Given the description of an element on the screen output the (x, y) to click on. 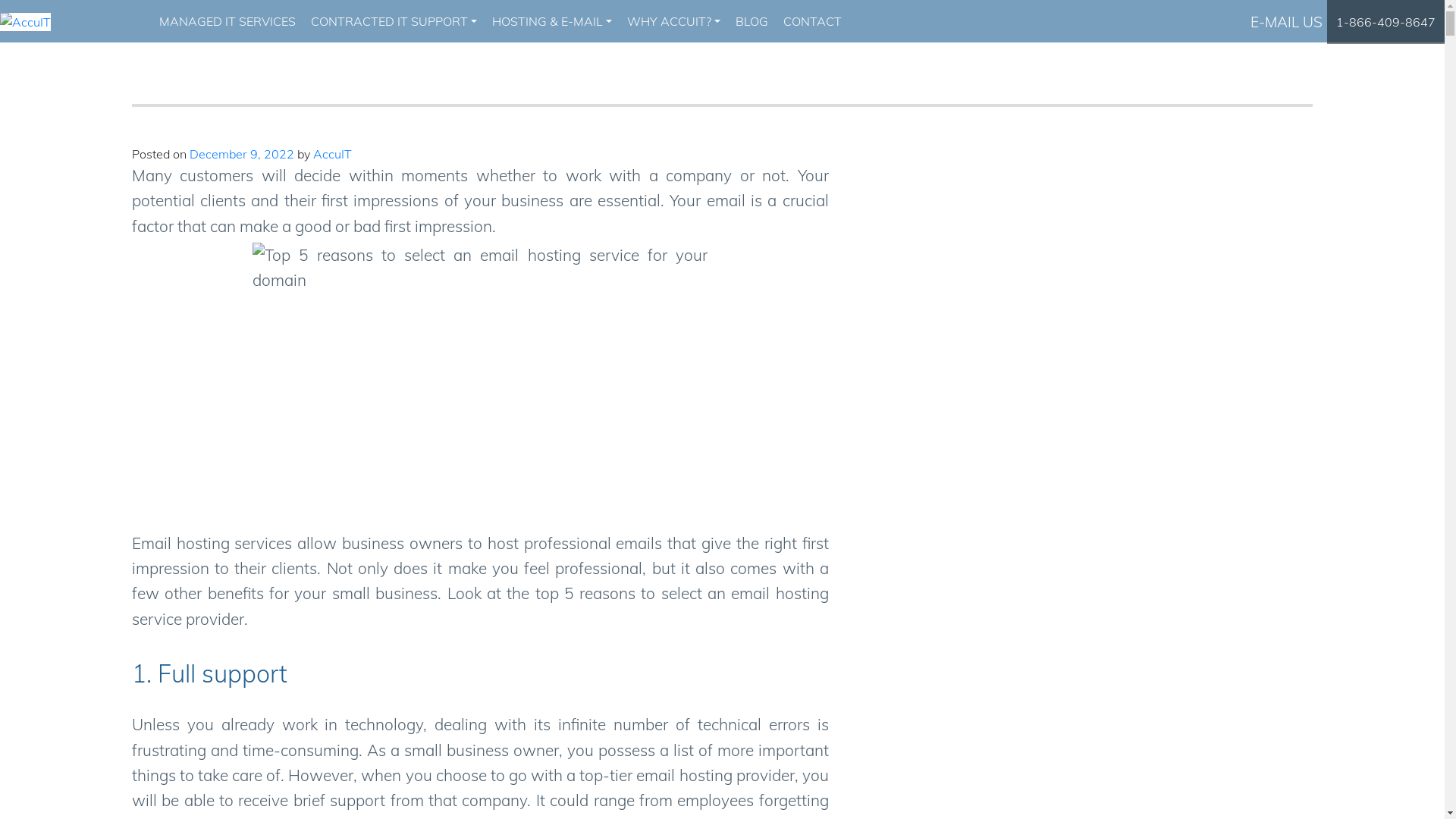
MANAGED IT SERVICES Element type: text (227, 20)
December 9, 2022 Element type: text (241, 153)
AccuIT Element type: text (332, 153)
HOSTING & E-MAIL Element type: text (551, 20)
CONTACT Element type: text (812, 20)
CONTRACTED IT SUPPORT Element type: text (393, 20)
E-MAIL US Element type: text (1286, 21)
BLOG Element type: text (751, 20)
WHY ACCUIT? Element type: text (673, 20)
1-866-409-8647 Element type: text (1385, 21)
